Given the description of an element on the screen output the (x, y) to click on. 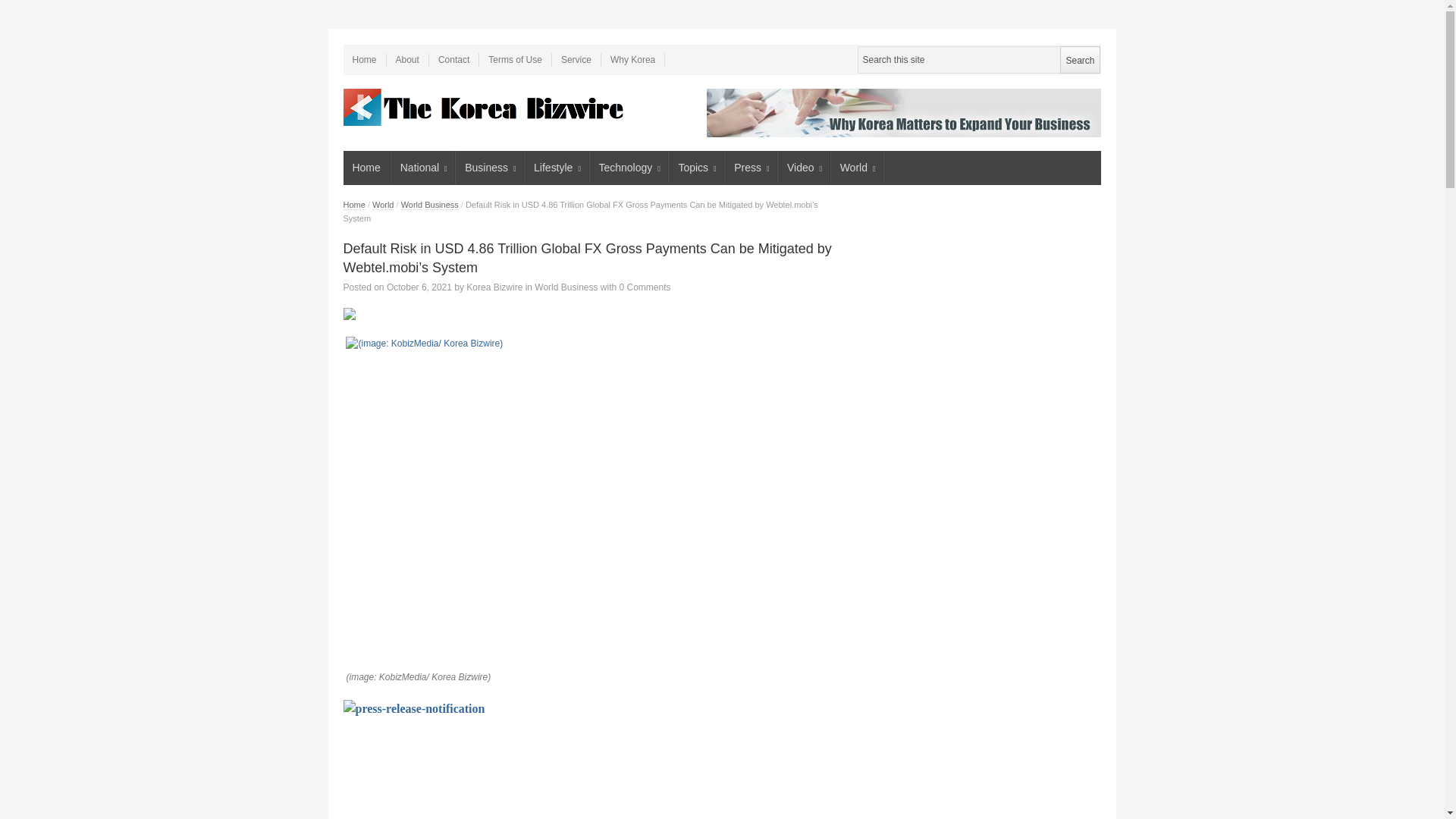
Why Korea (633, 59)
Search this site (978, 59)
Be Korea-savvy (484, 107)
About (408, 59)
Home (366, 167)
Search (1079, 59)
Business (489, 167)
1:33 pm (419, 286)
Contact (454, 59)
Home (363, 59)
